Given the description of an element on the screen output the (x, y) to click on. 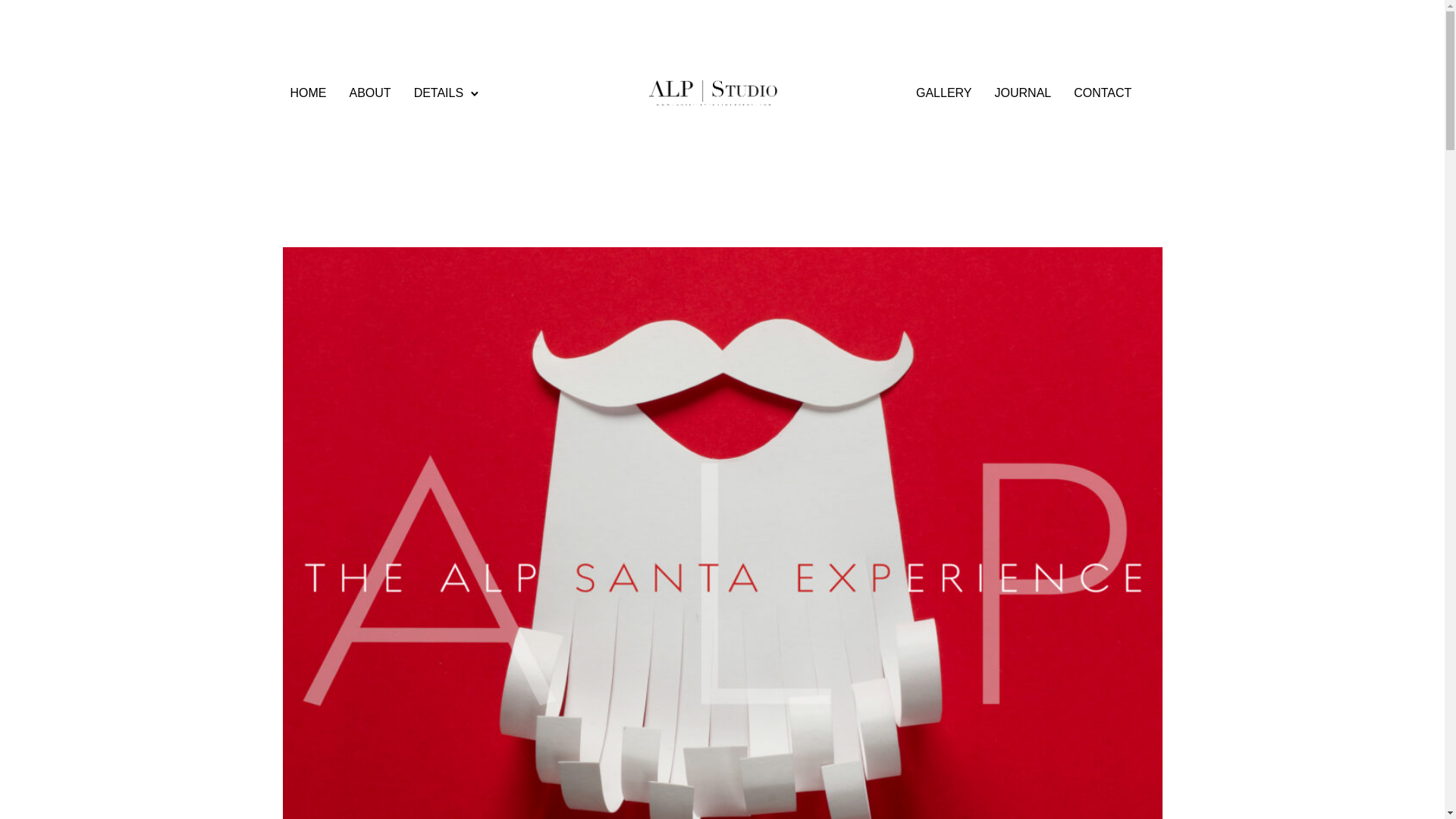
JOURNAL (1023, 92)
ABOUT (368, 92)
DETAILS (438, 92)
DETAILS (438, 92)
ABOUT (368, 92)
CONTACT (1101, 92)
CONTACT (1101, 92)
JOURNAL (1023, 92)
HOME (307, 92)
GALLERY (943, 92)
HOME (307, 92)
GALLERY (943, 92)
